Given the description of an element on the screen output the (x, y) to click on. 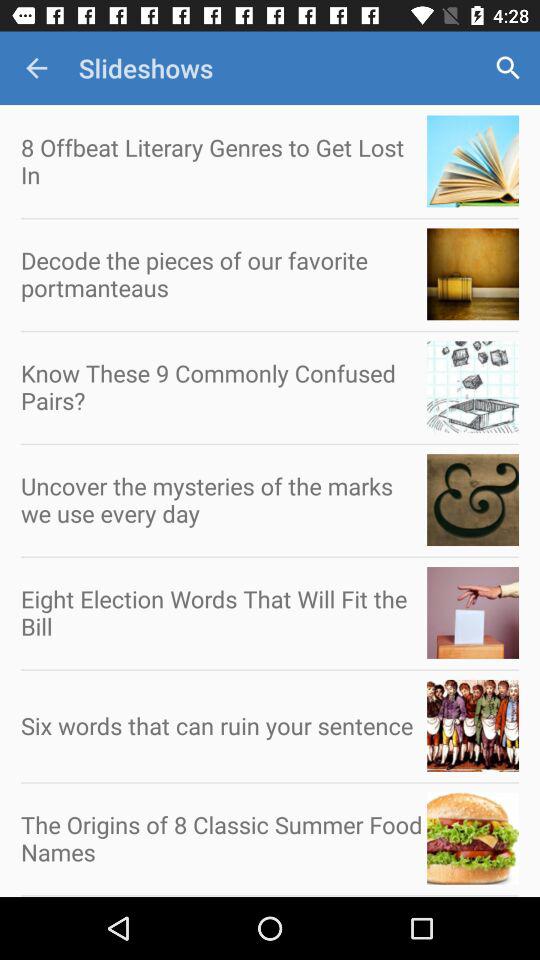
choose app next to the slideshows item (36, 68)
